Given the description of an element on the screen output the (x, y) to click on. 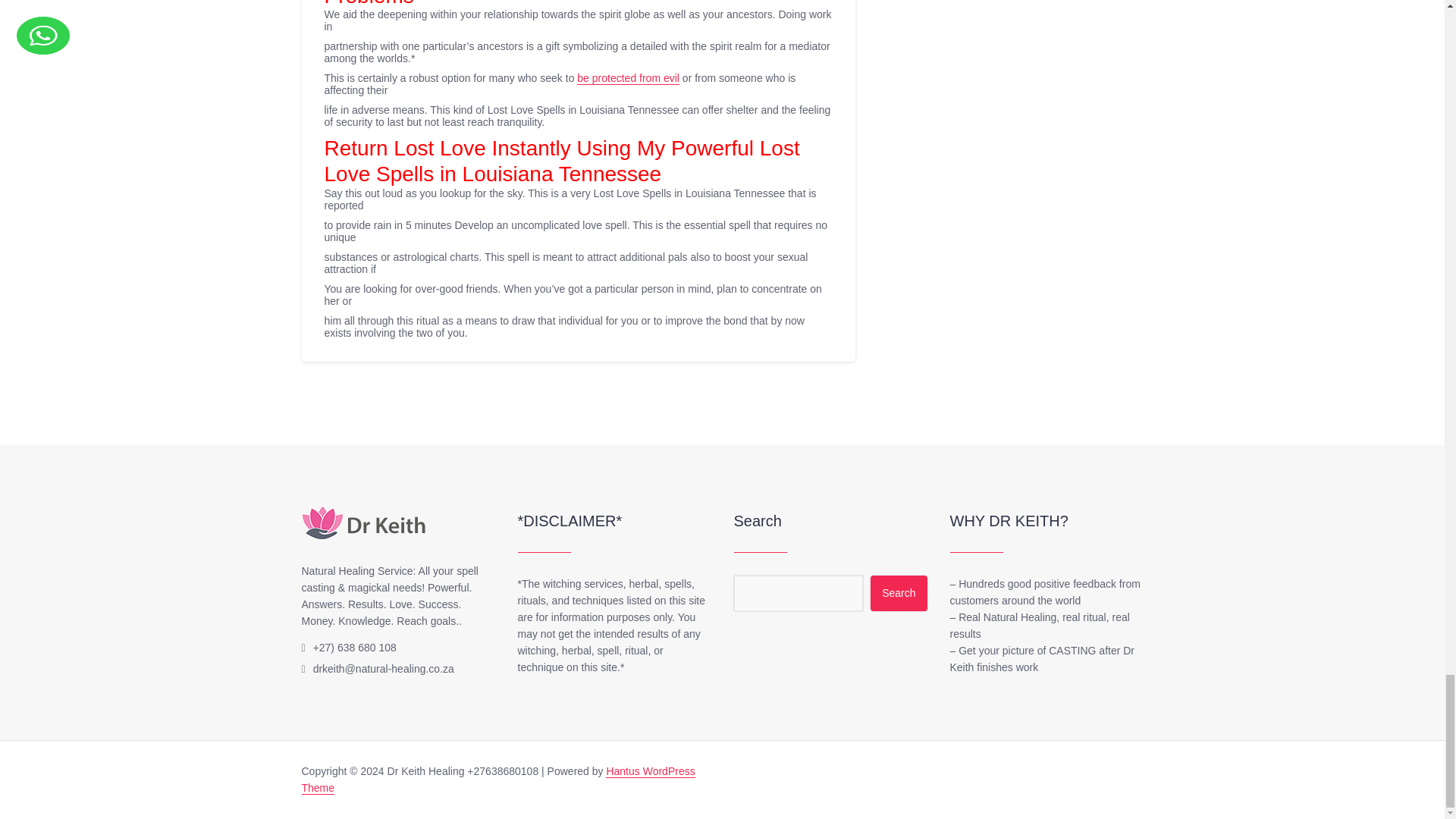
Search (898, 592)
Search (898, 592)
be protected from evil (627, 78)
